Given the description of an element on the screen output the (x, y) to click on. 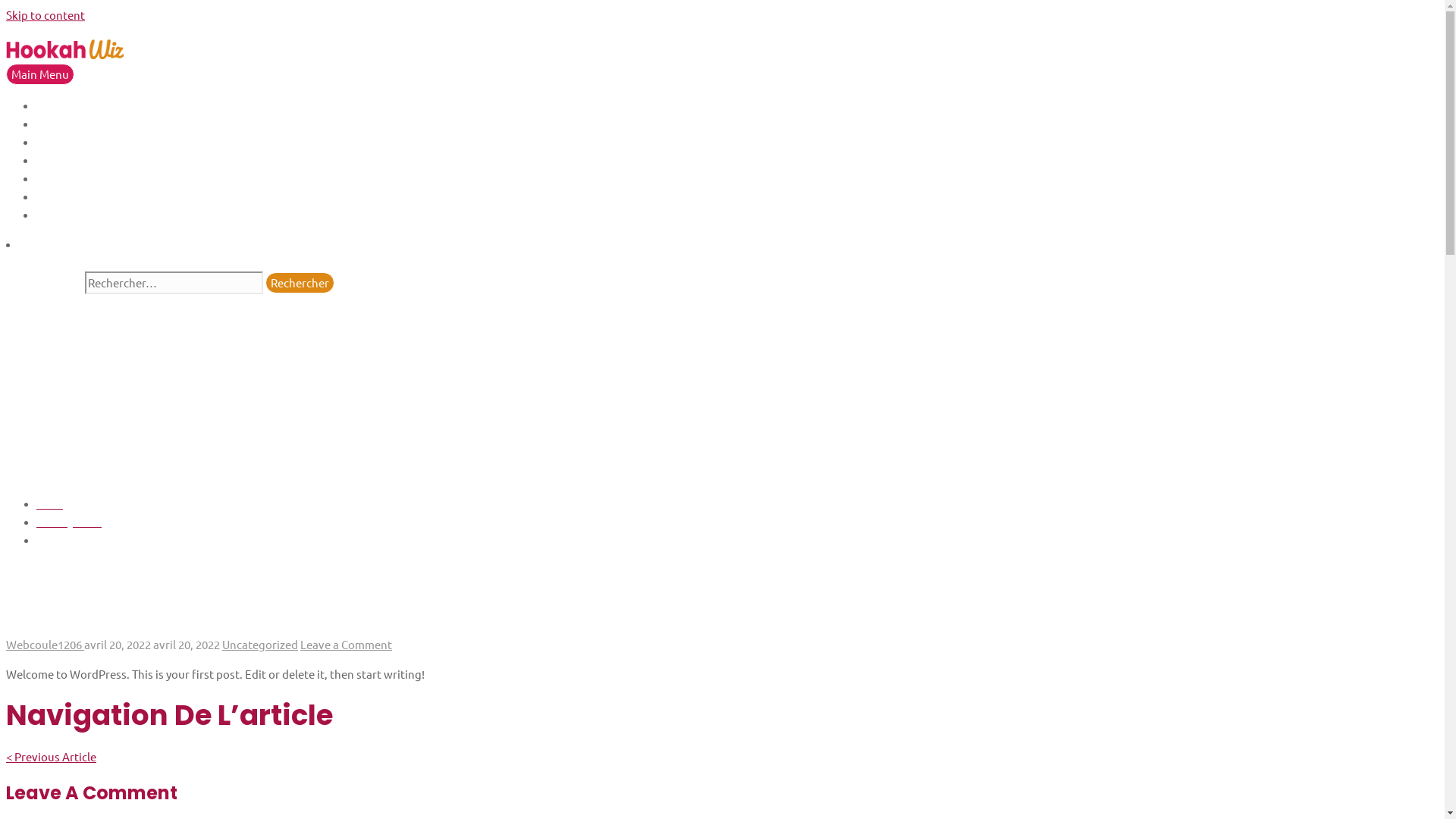
Uncategorized Element type: text (260, 644)
ACCUEIL Element type: text (68, 104)
Rechercher Element type: text (299, 282)
Main Menu Element type: text (40, 73)
Leave a Comment Element type: text (346, 644)
GET IN TOUCH Element type: text (83, 141)
Skip to content Element type: text (45, 14)
Uncategorized Element type: text (68, 521)
MENU Element type: text (62, 177)
< Previous Article Element type: text (51, 756)
Home Element type: text (49, 503)
Webcoule1206 Element type: text (45, 644)
BLOG Element type: text (60, 123)
THE LOUNGE Element type: text (80, 214)
SEARCH Element type: text (27, 261)
RESERVATION Element type: text (82, 195)
HOME Element type: text (63, 159)
